Given the description of an element on the screen output the (x, y) to click on. 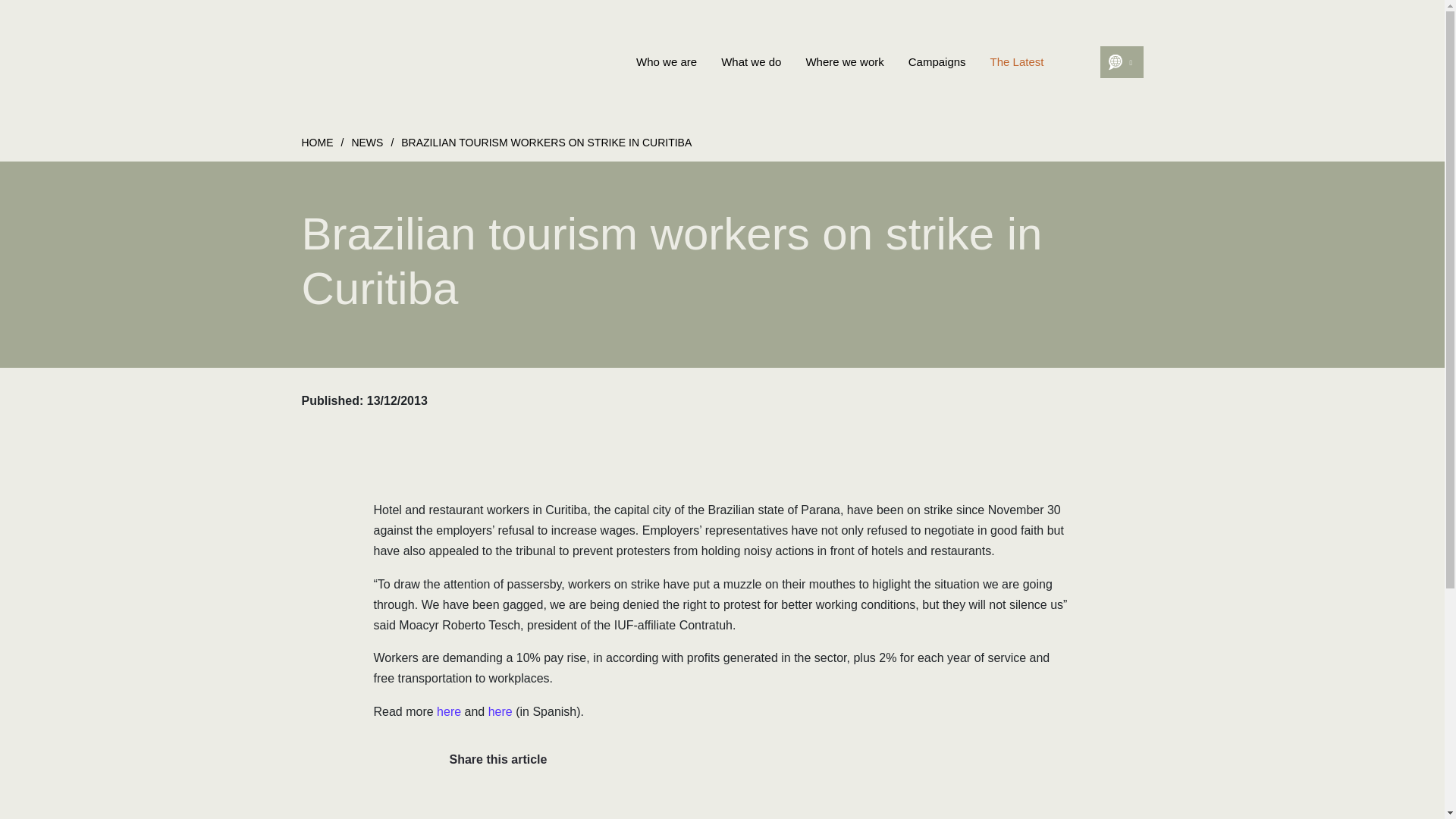
Where we work (844, 62)
Who we are (666, 62)
What we do (751, 62)
Who we are (666, 62)
What we do (751, 62)
